Given the description of an element on the screen output the (x, y) to click on. 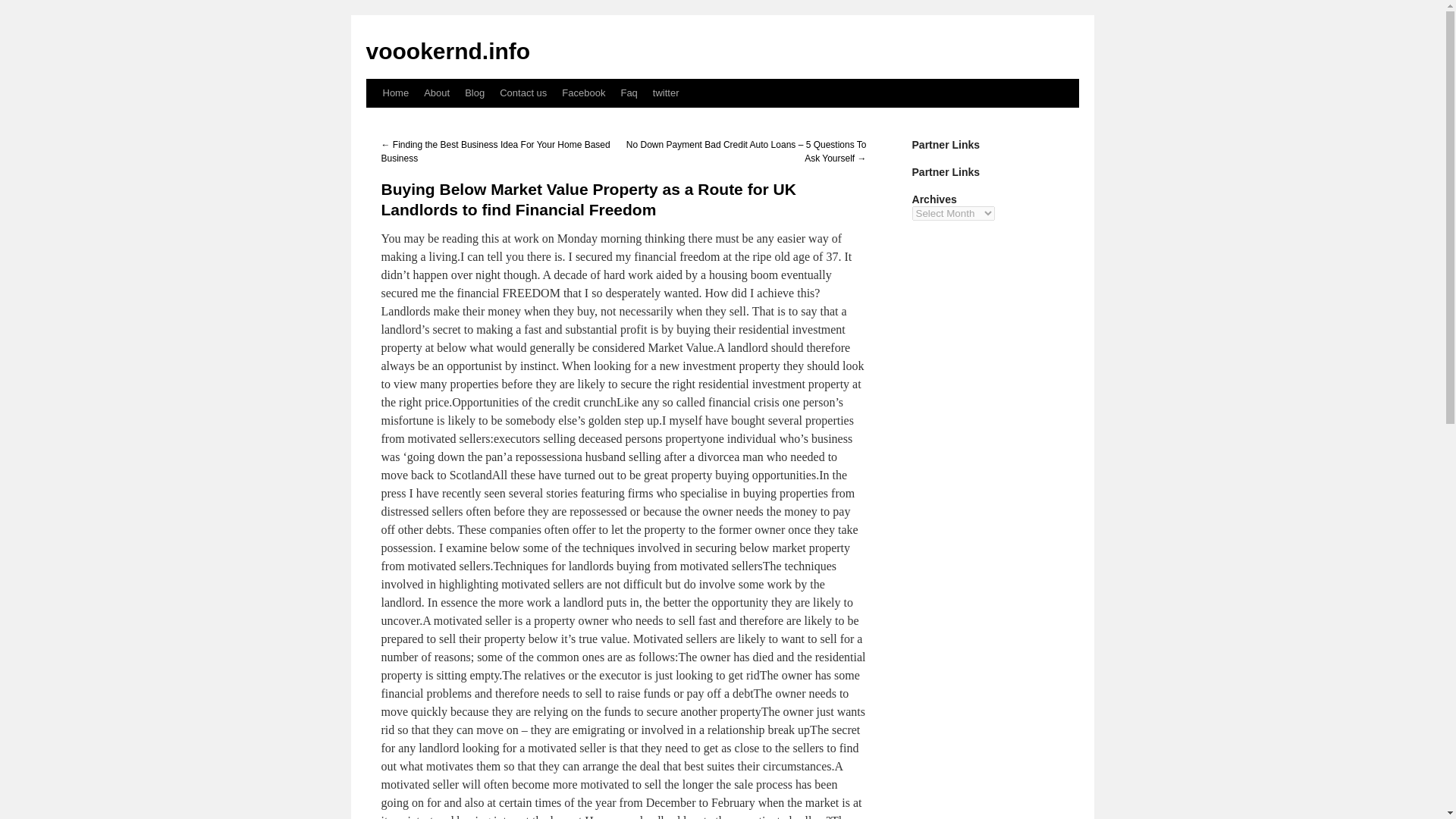
Faq (628, 92)
About (436, 92)
Facebook (583, 92)
Home (395, 92)
Faq (628, 92)
Facebook (583, 92)
Blog (474, 92)
Home (395, 92)
Contact us (523, 92)
About (436, 92)
twitter (666, 92)
Blog (474, 92)
twitter (666, 92)
voookernd.info (447, 50)
voookernd.info (447, 50)
